Given the description of an element on the screen output the (x, y) to click on. 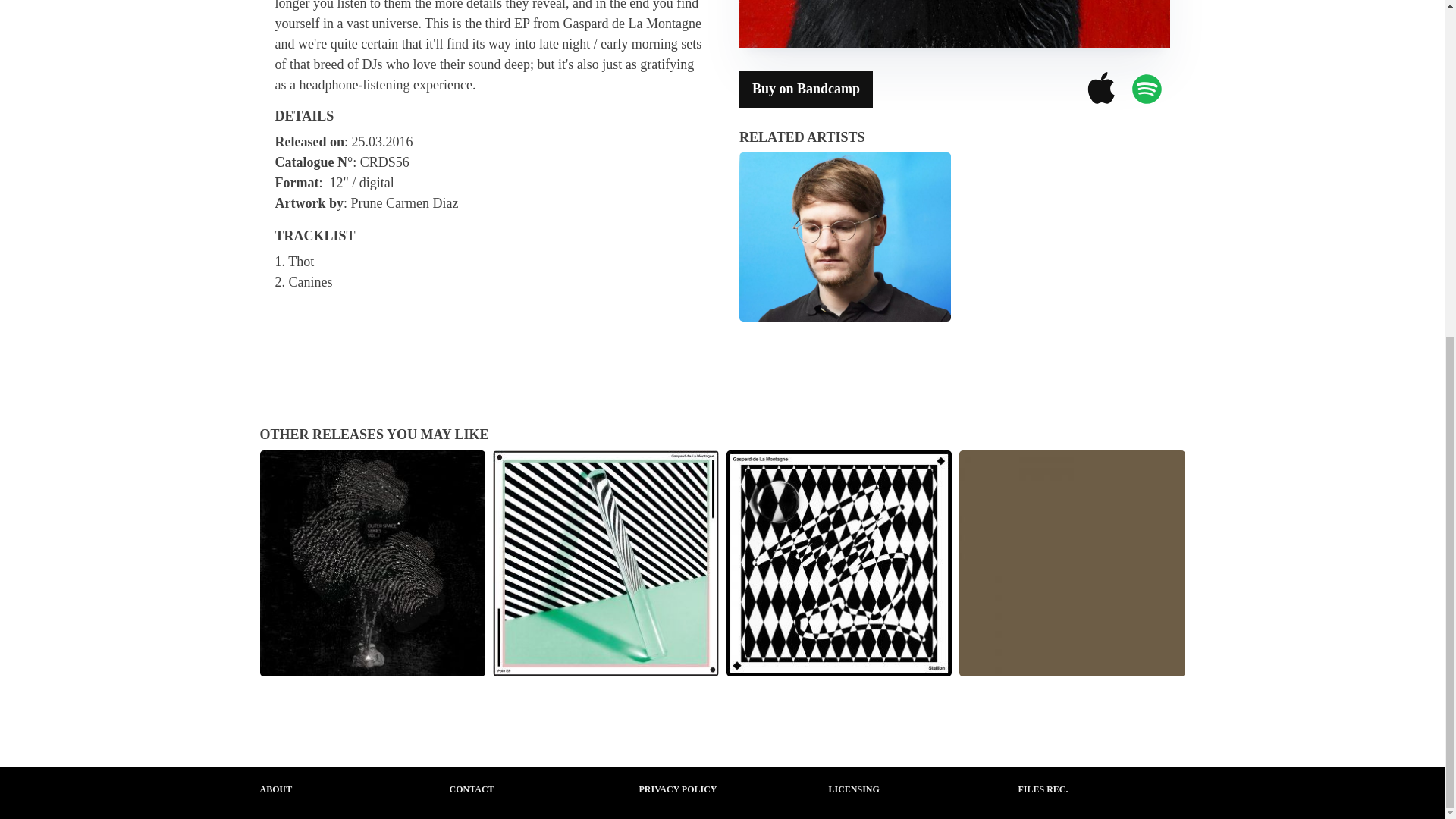
Buy on Bandcamp (805, 88)
FILES REC. (1042, 789)
PRIVACY POLICY (677, 789)
ABOUT (275, 789)
LICENSING (853, 789)
CONTACT (470, 789)
